Given the description of an element on the screen output the (x, y) to click on. 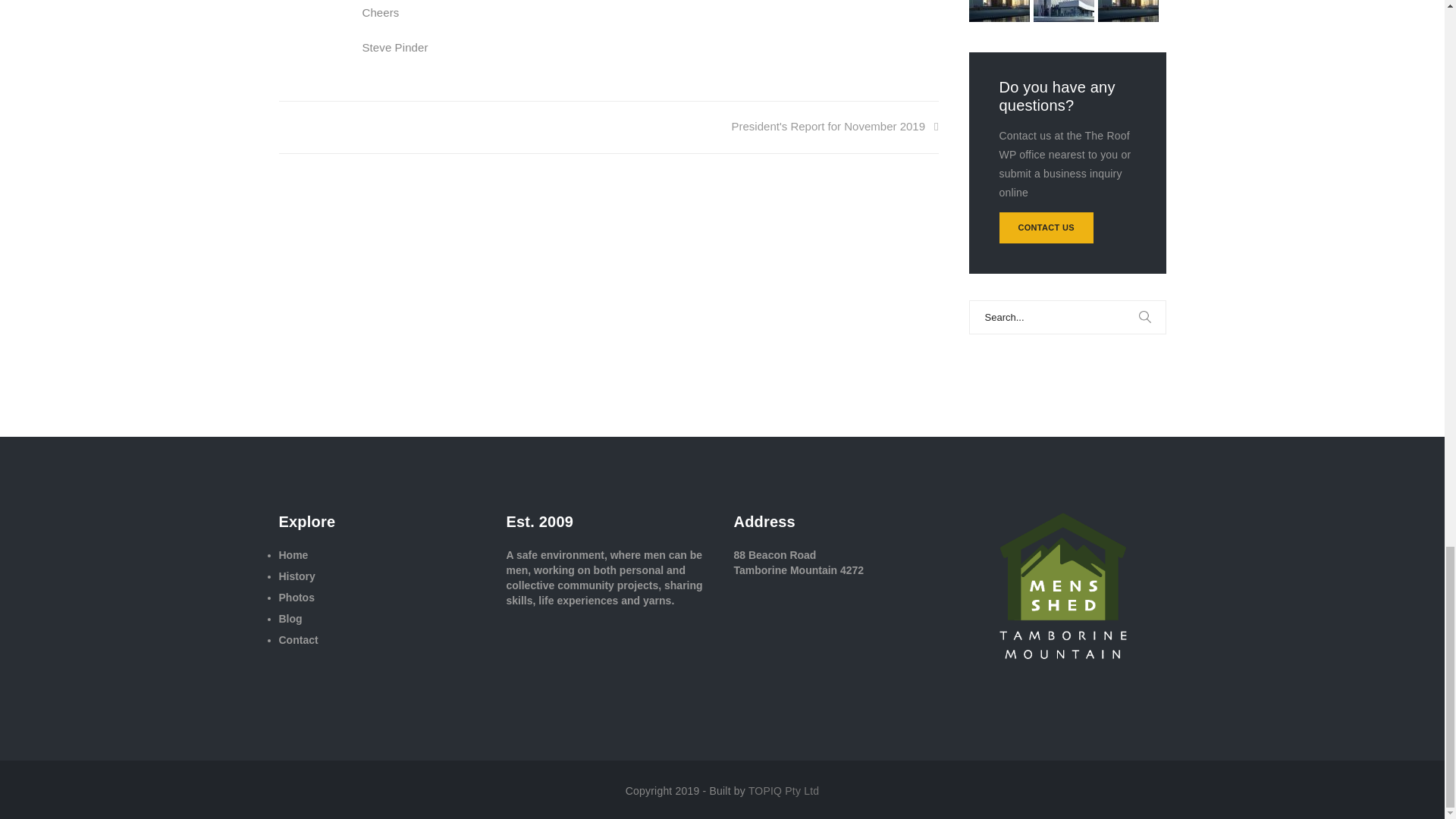
President's Report for November 2019 (835, 125)
President's Report for November 2019 (835, 125)
